Given the description of an element on the screen output the (x, y) to click on. 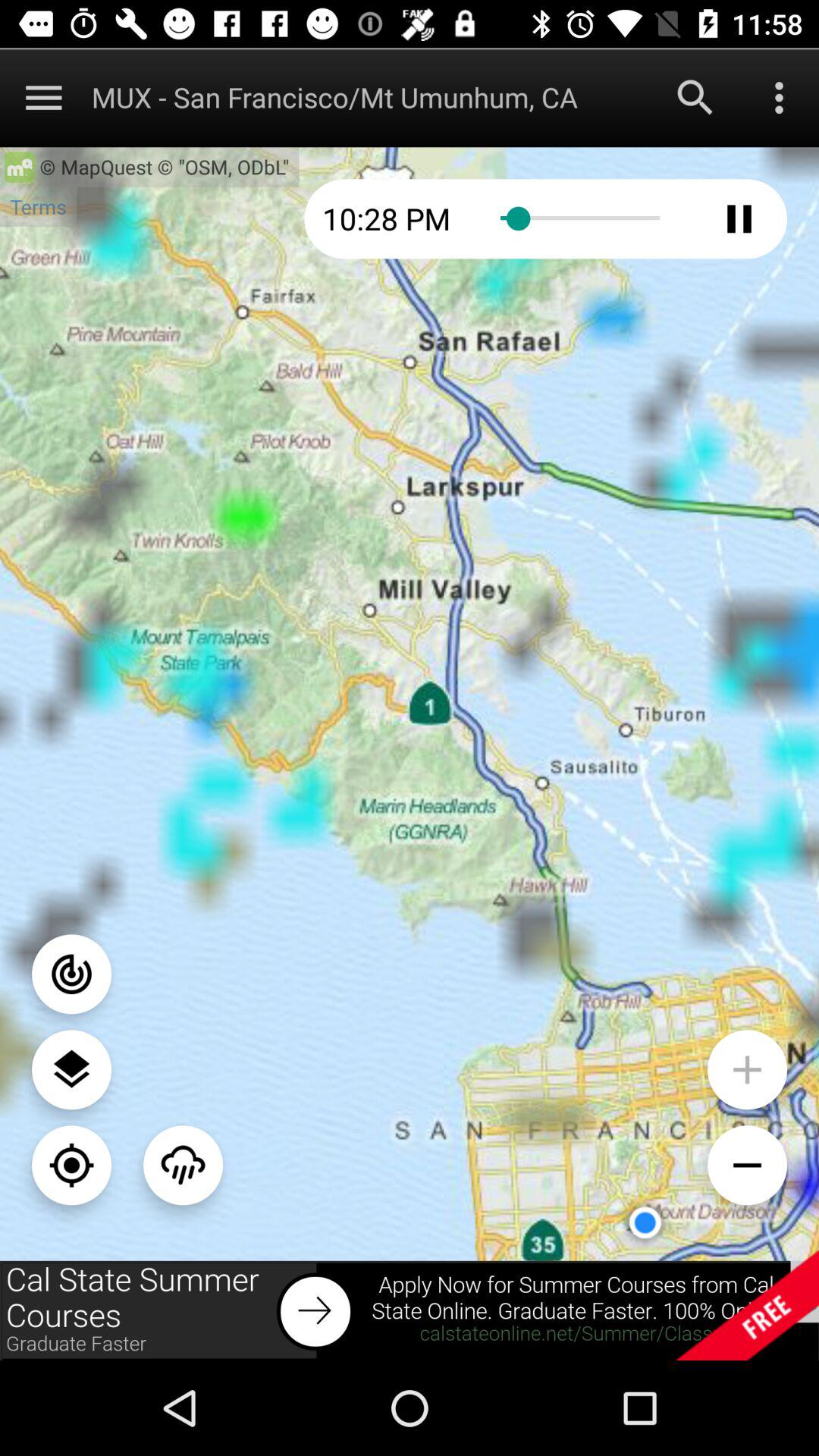
zoom in (747, 1069)
